Given the description of an element on the screen output the (x, y) to click on. 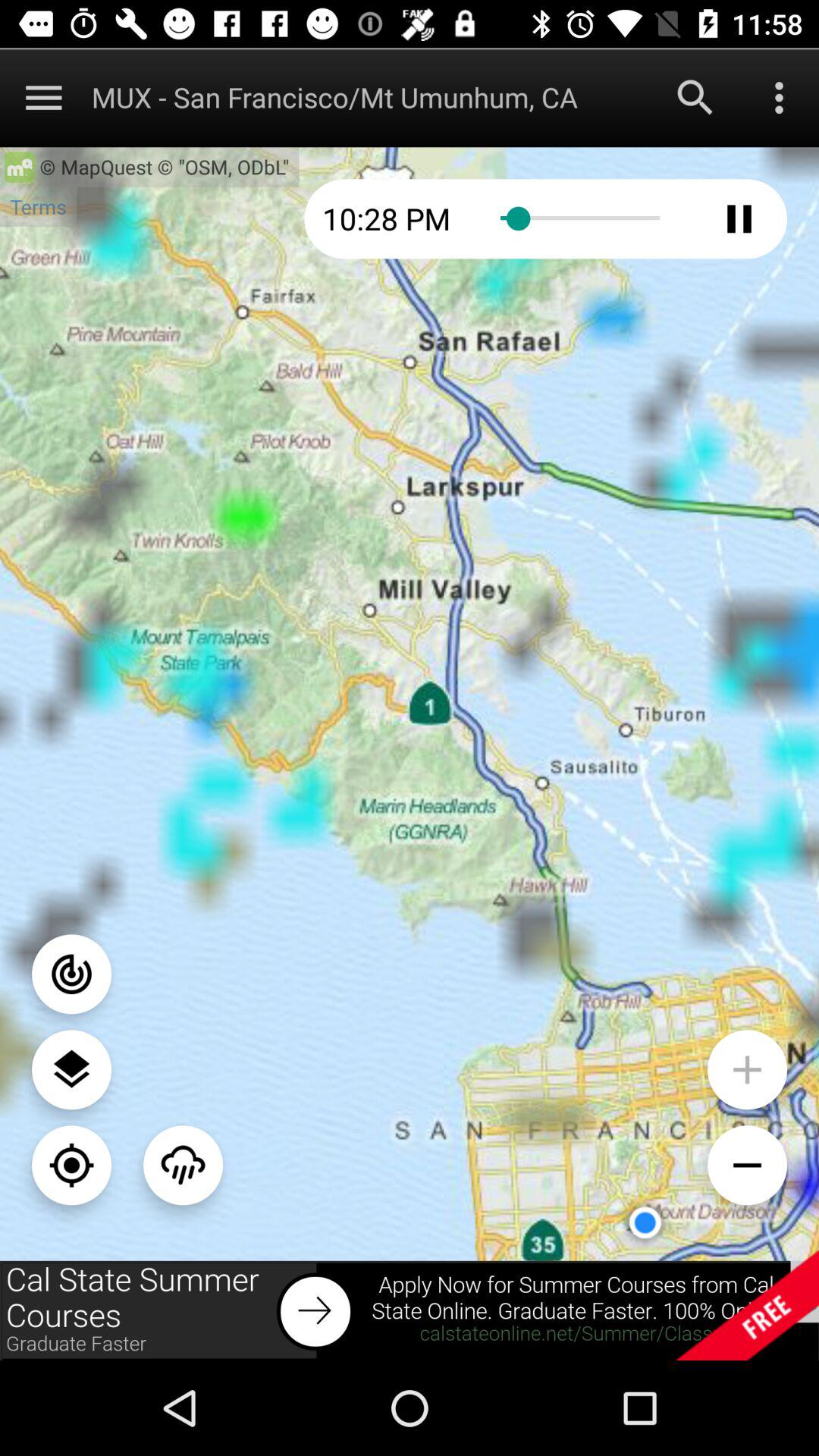
zoom in (747, 1069)
